Given the description of an element on the screen output the (x, y) to click on. 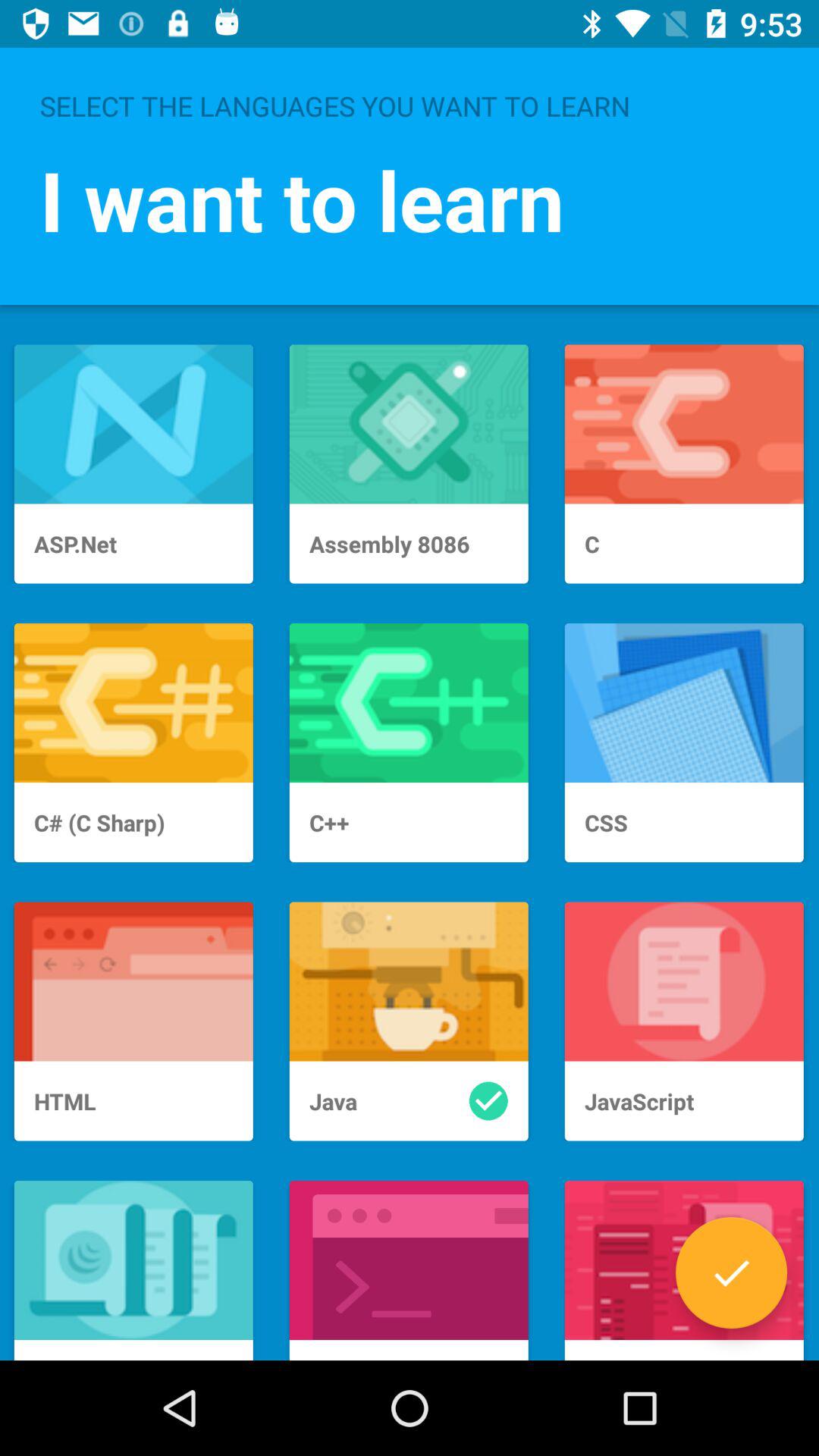
select language (731, 1272)
